Given the description of an element on the screen output the (x, y) to click on. 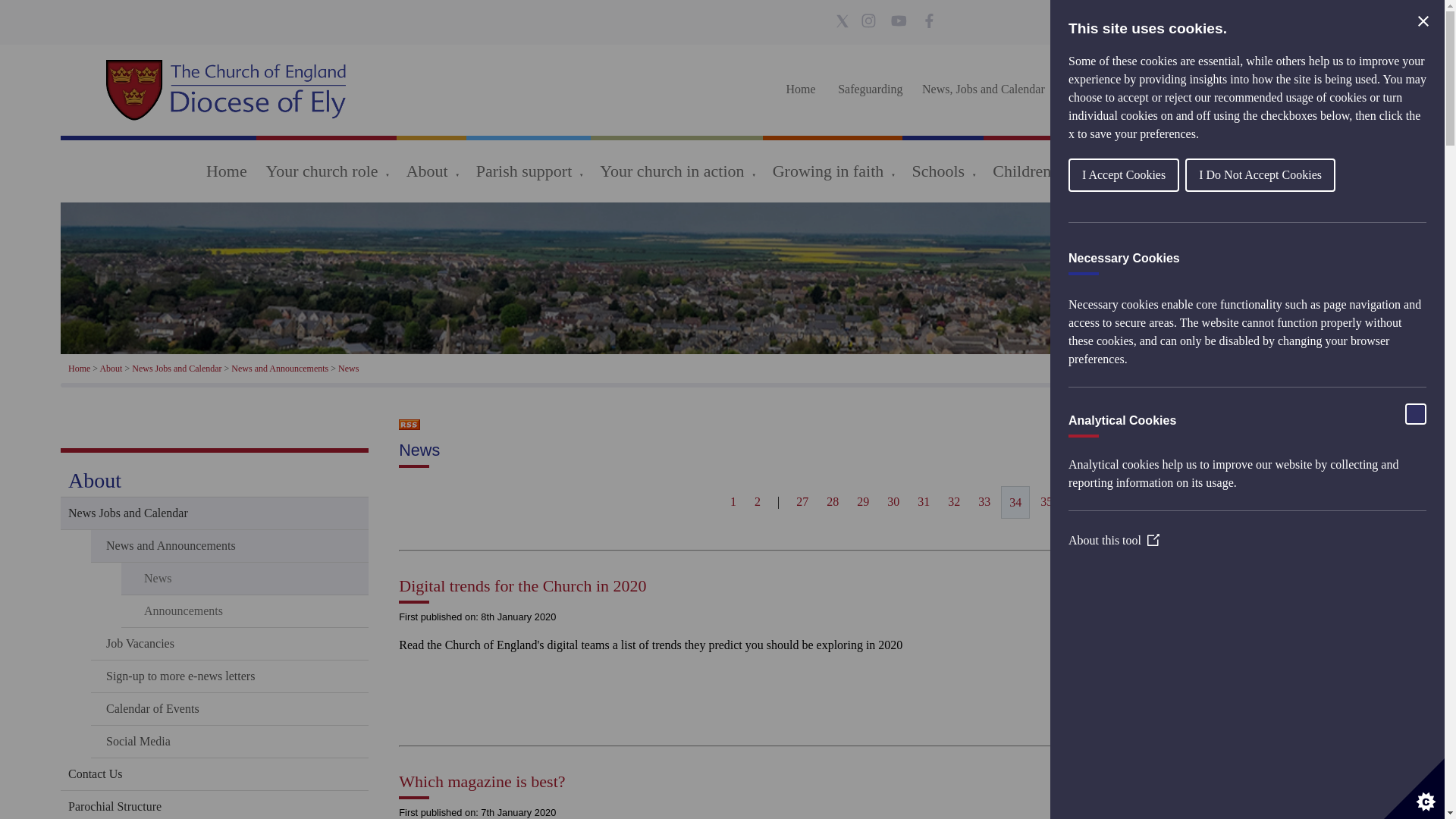
Safeguarding (869, 88)
I Do Not Accept Cookies (1310, 174)
I Accept Cookies (1202, 174)
Home (801, 88)
Parish Support (1103, 88)
